Given the description of an element on the screen output the (x, y) to click on. 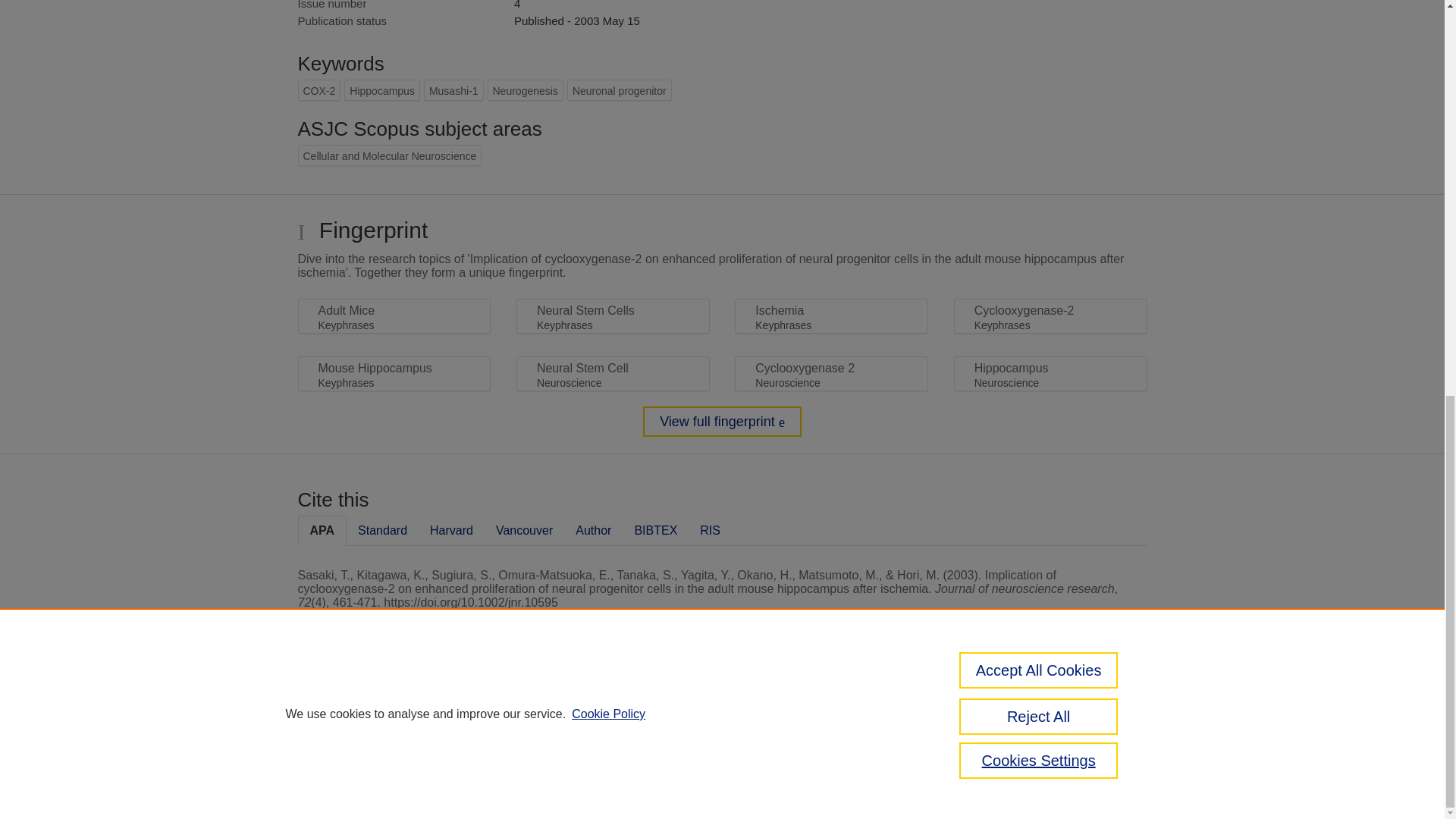
Pure (362, 708)
About web accessibility (1088, 713)
use of cookies (796, 760)
Report vulnerability (1088, 745)
View full fingerprint (722, 421)
Elsevier B.V. (506, 728)
Scopus (394, 708)
Cookies Settings (334, 781)
